Given the description of an element on the screen output the (x, y) to click on. 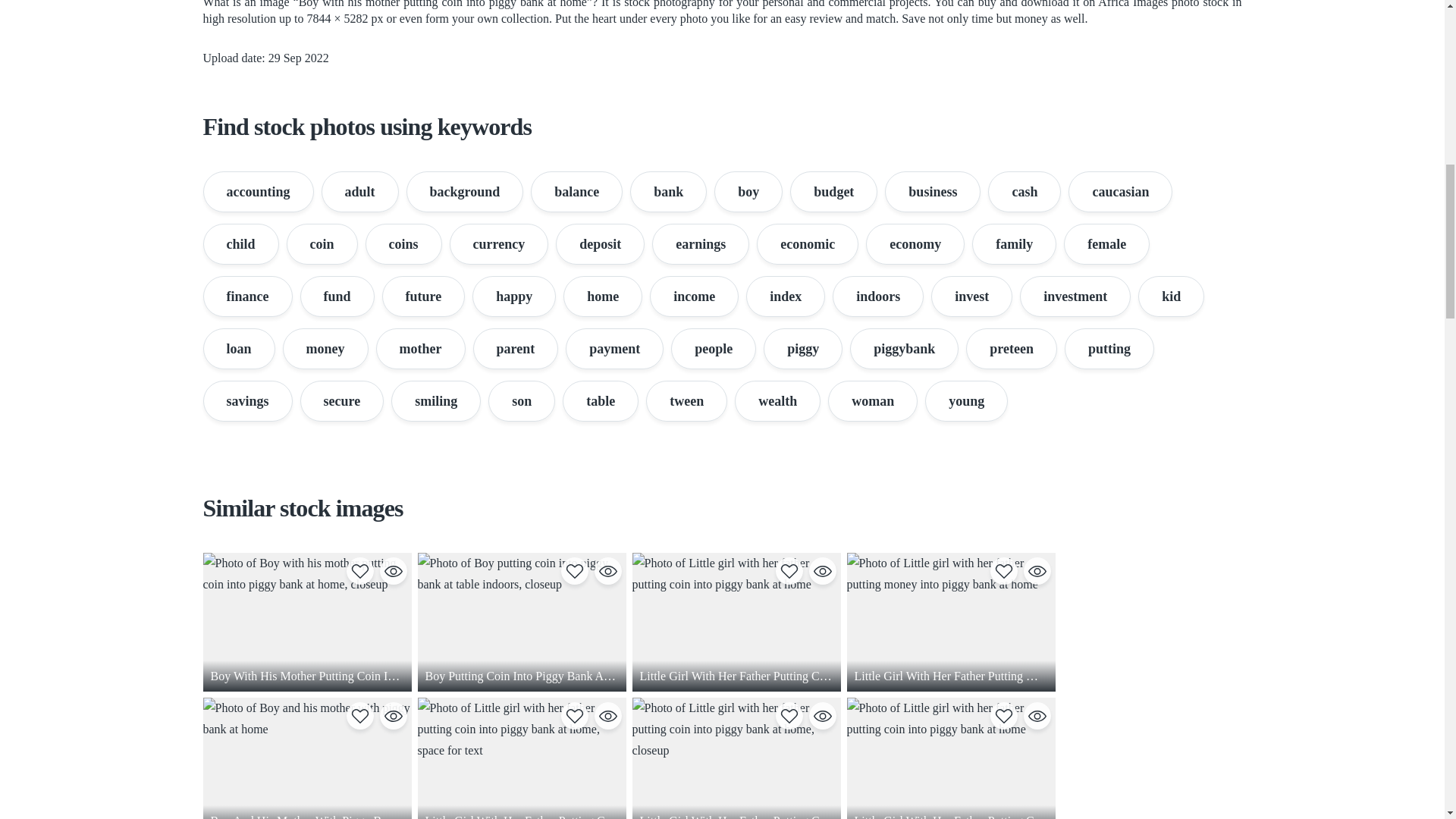
boy (748, 191)
bank (668, 191)
Boy and his mother with piggy bank at home (307, 758)
budget (833, 191)
business (932, 191)
balance (577, 191)
accounting (258, 191)
child (241, 243)
earnings (700, 243)
